Given the description of an element on the screen output the (x, y) to click on. 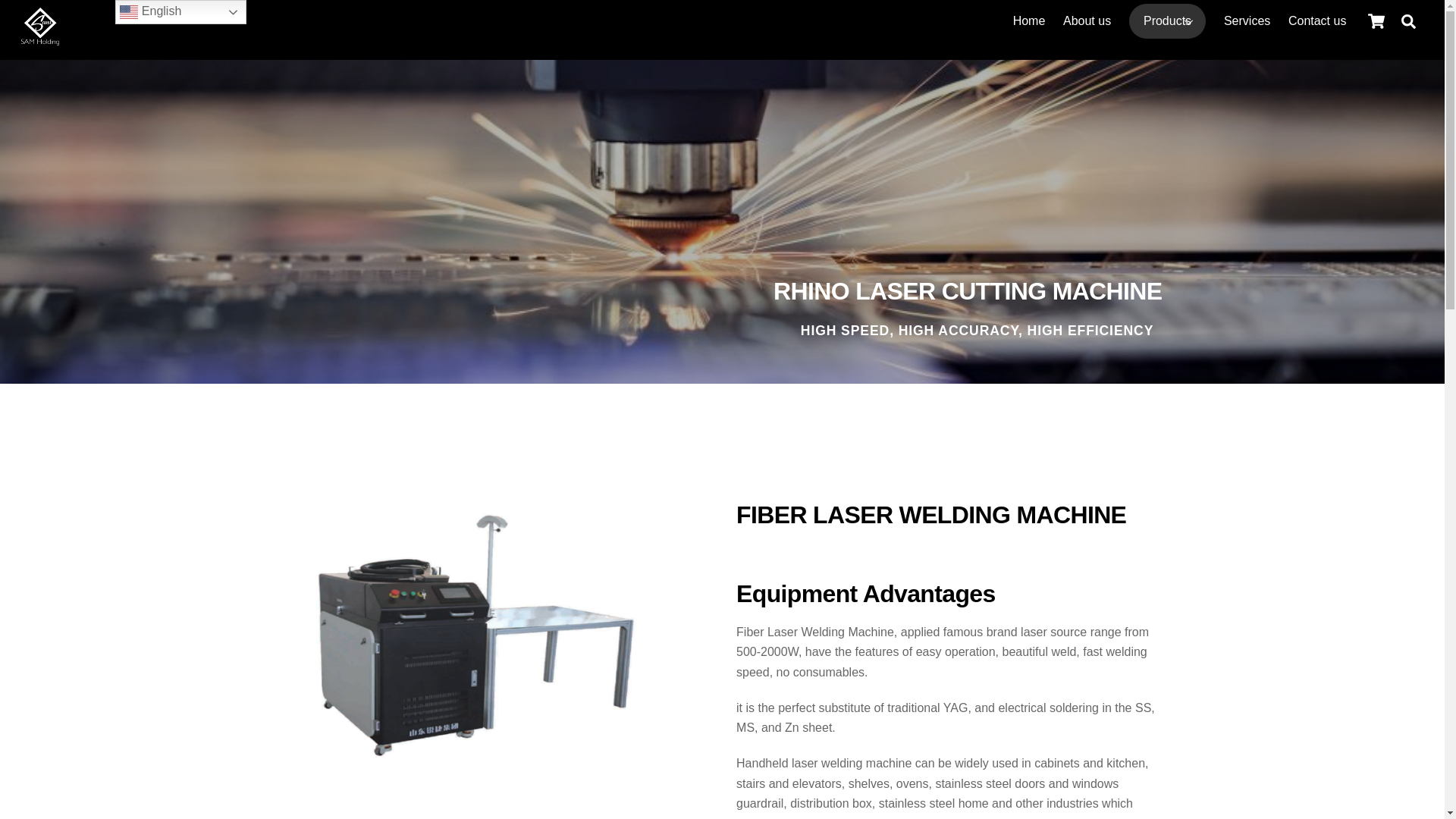
Cart (1376, 20)
Contact us (1317, 21)
Search (1408, 20)
Products (1168, 21)
Services (1246, 21)
FIBER LASER WELDING MACHINE (461, 635)
About us (1086, 21)
Home (1029, 21)
